Given the description of an element on the screen output the (x, y) to click on. 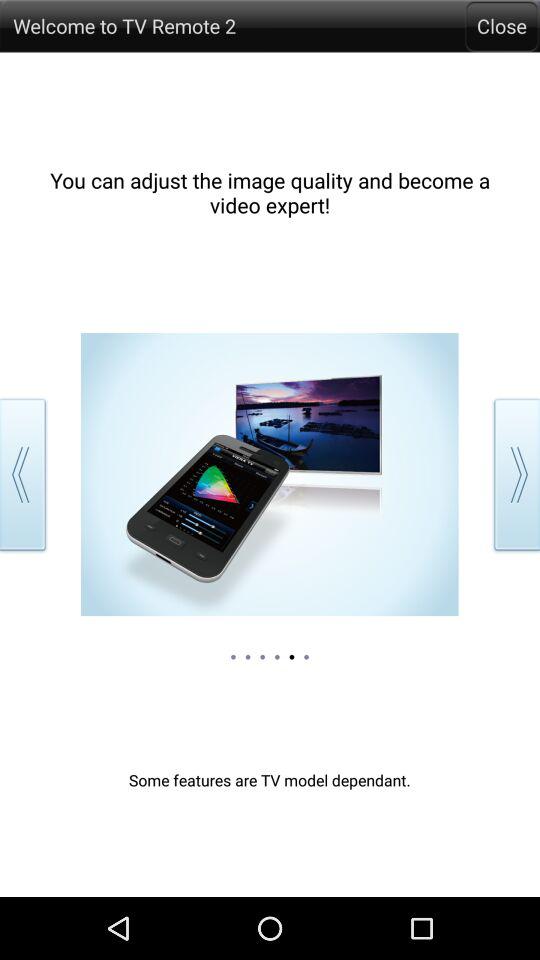
tap on the image (270, 474)
select the arrow icon which is on the right side (513, 474)
